Given the description of an element on the screen output the (x, y) to click on. 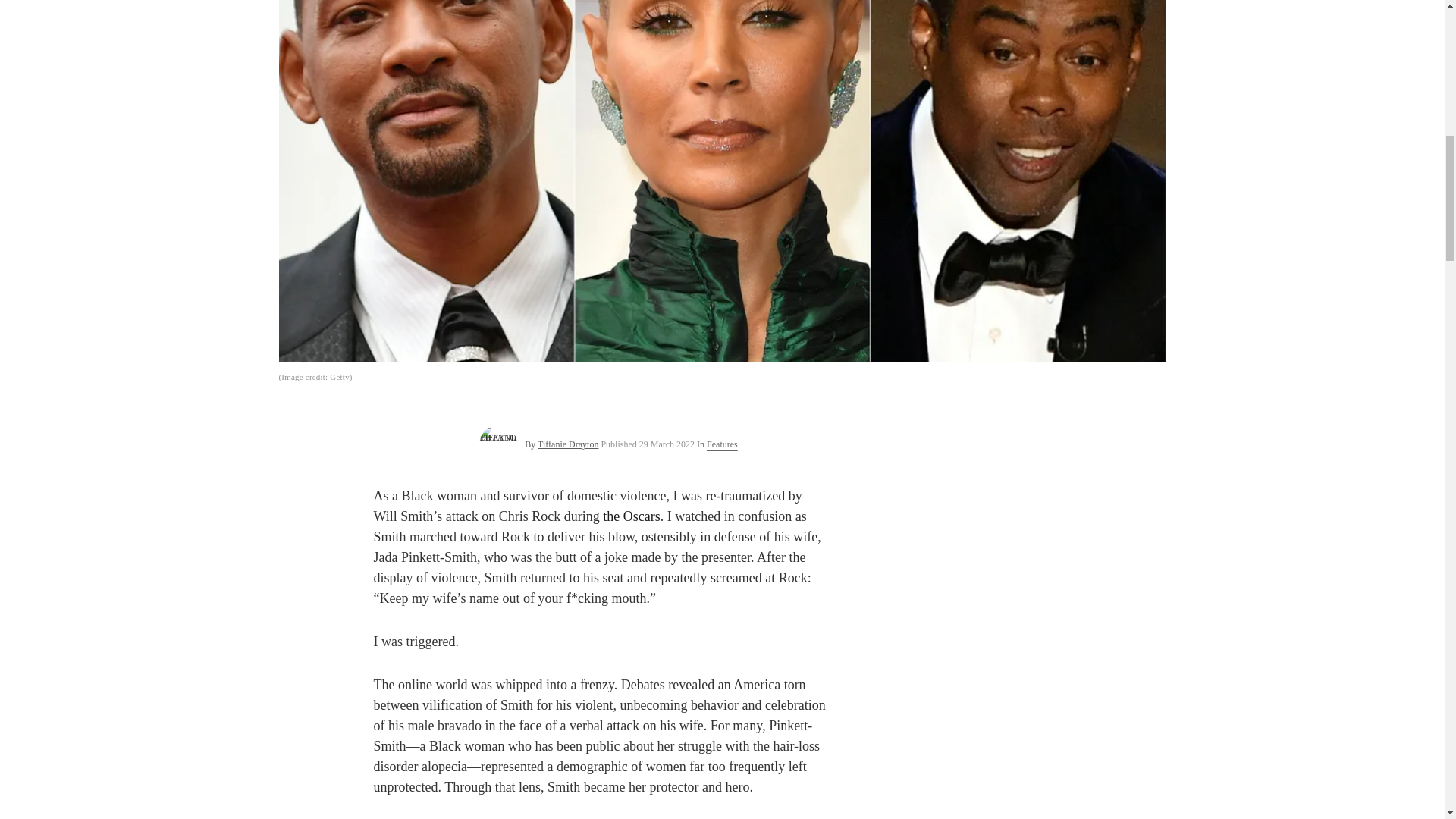
Tiffanie Drayton (567, 443)
